Given the description of an element on the screen output the (x, y) to click on. 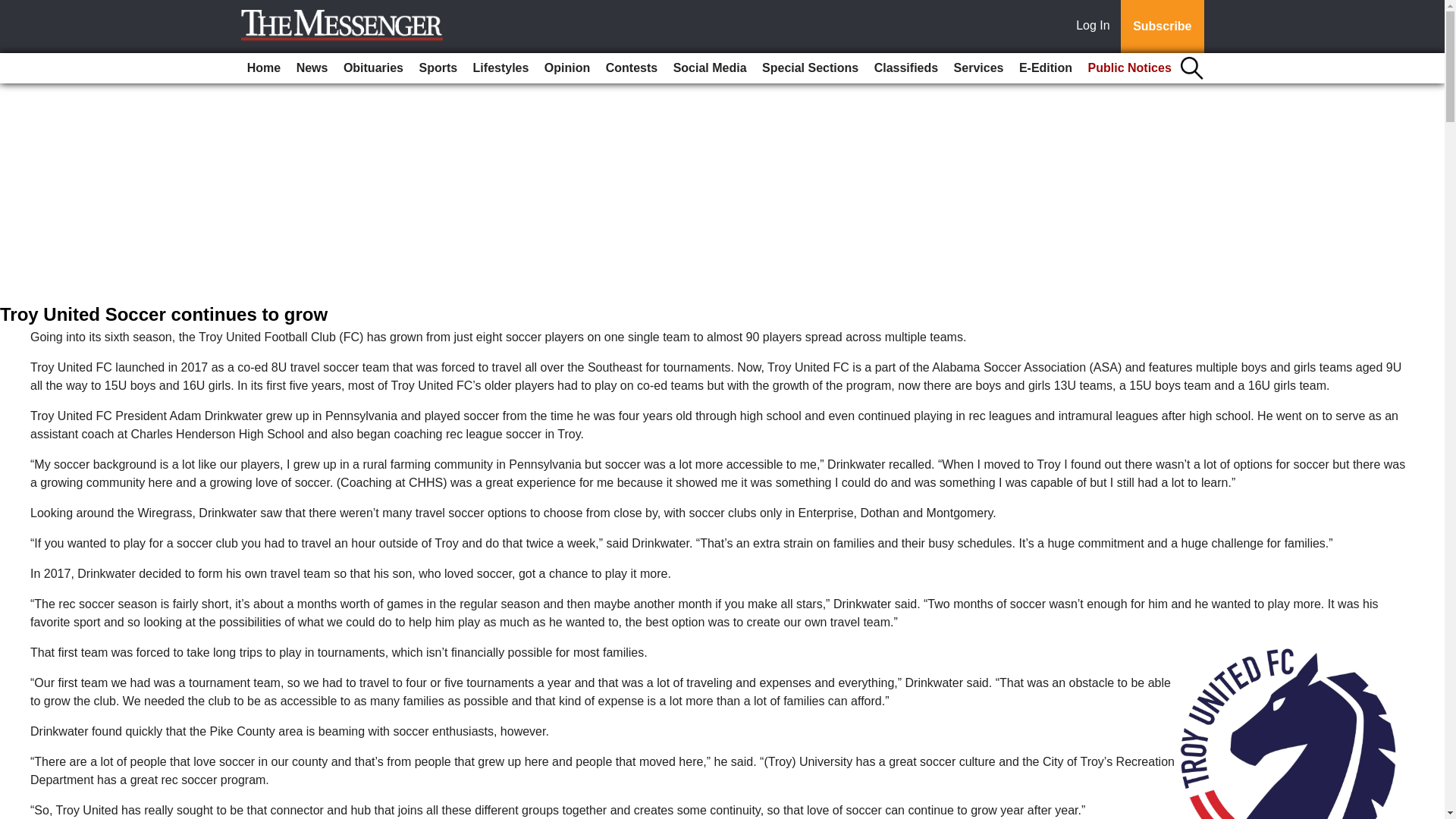
Log In (1095, 26)
Sports (437, 68)
Lifestyles (501, 68)
Obituaries (373, 68)
News (311, 68)
Home (263, 68)
Opinion (566, 68)
Services (978, 68)
Contests (631, 68)
Subscribe (1162, 26)
